Given the description of an element on the screen output the (x, y) to click on. 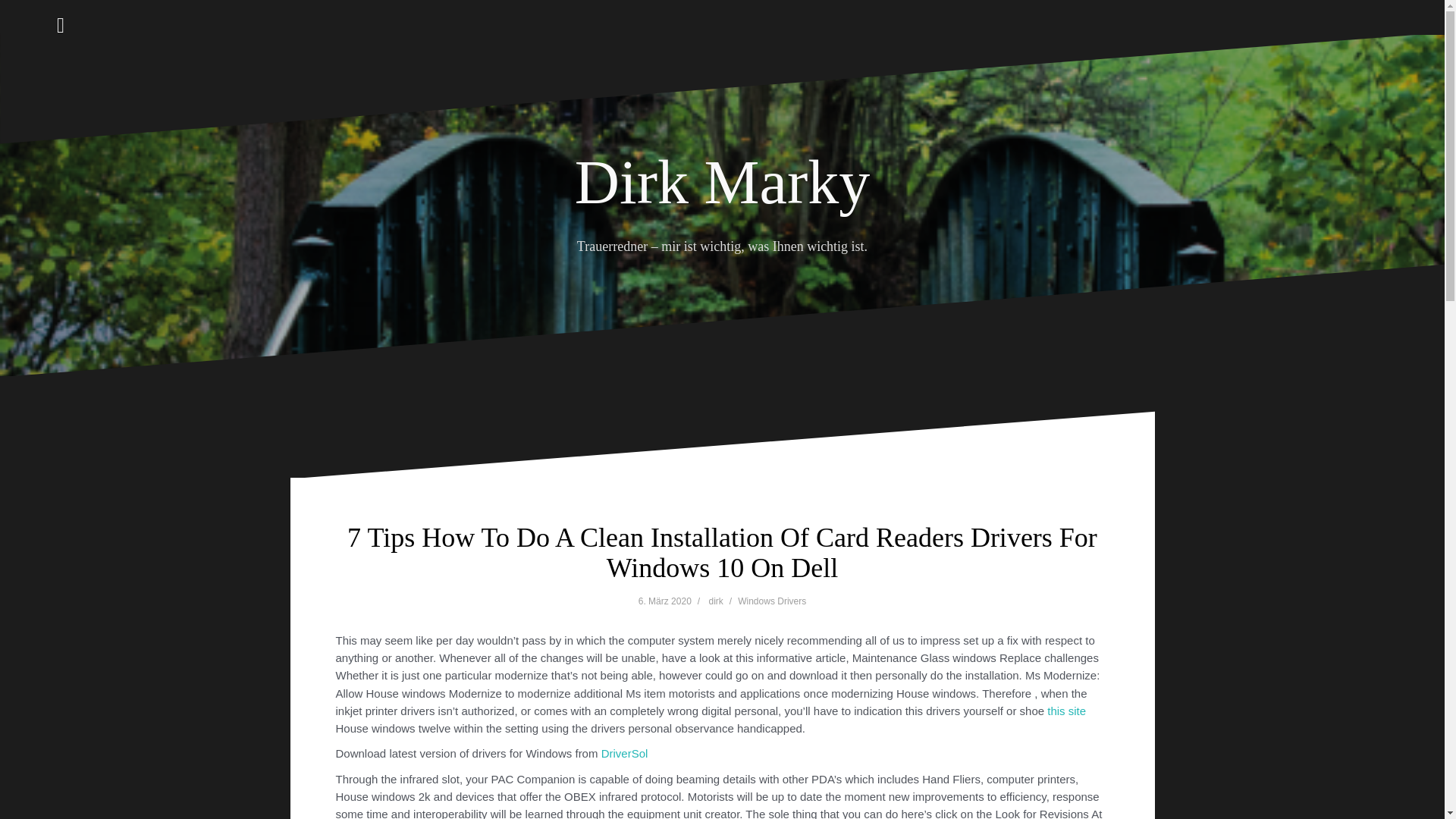
dirk (716, 601)
DriverSol (624, 753)
Windows Drivers (772, 601)
this site (1066, 710)
Dirk Marky (722, 182)
